Given the description of an element on the screen output the (x, y) to click on. 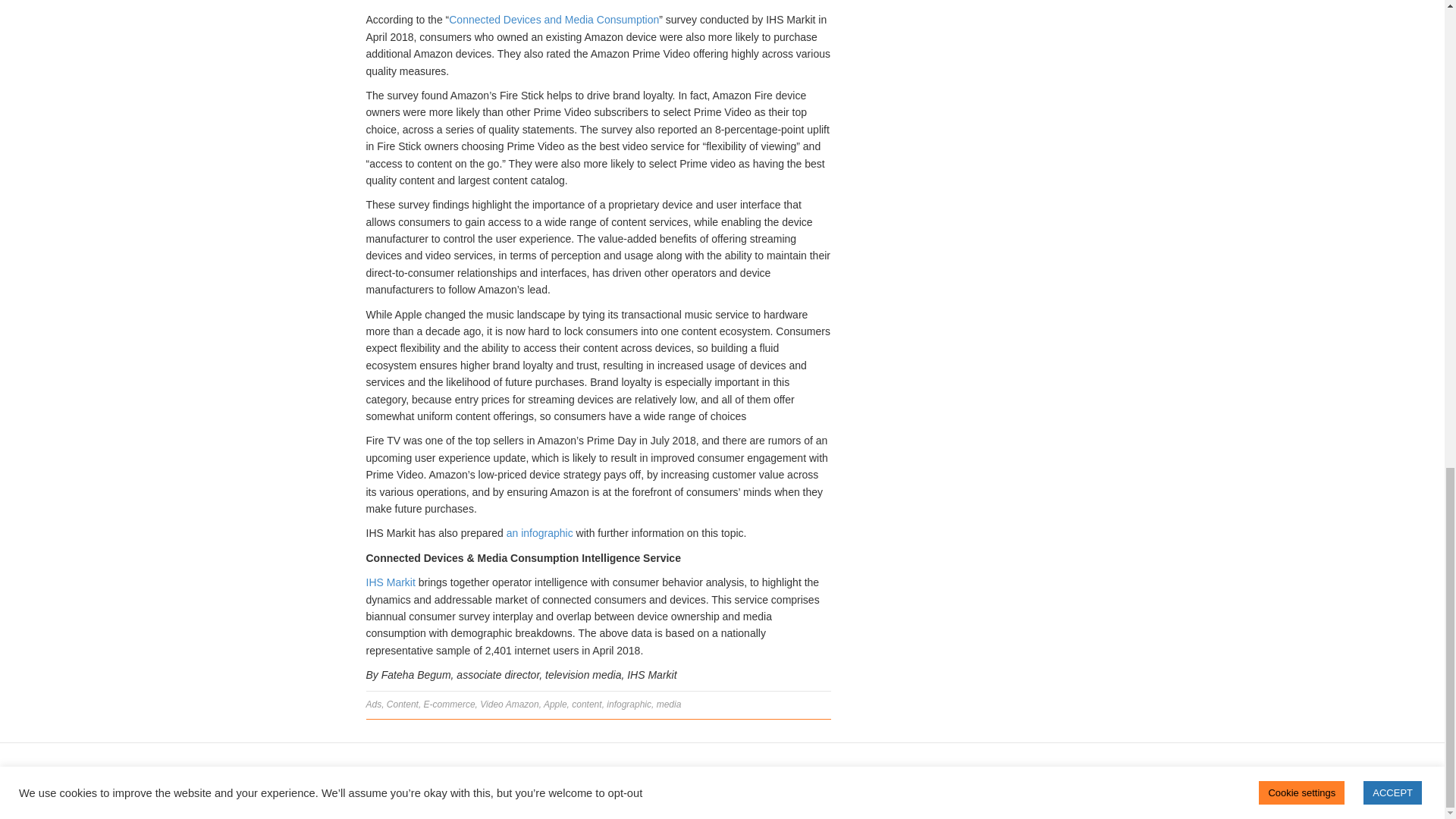
Content (403, 704)
Amazon (521, 704)
Connected Devices and Media Consumption (553, 19)
Video (491, 704)
infographic (628, 704)
media (668, 704)
an infographic (539, 532)
Ads (373, 704)
Apple (555, 704)
content (586, 704)
